Given the description of an element on the screen output the (x, y) to click on. 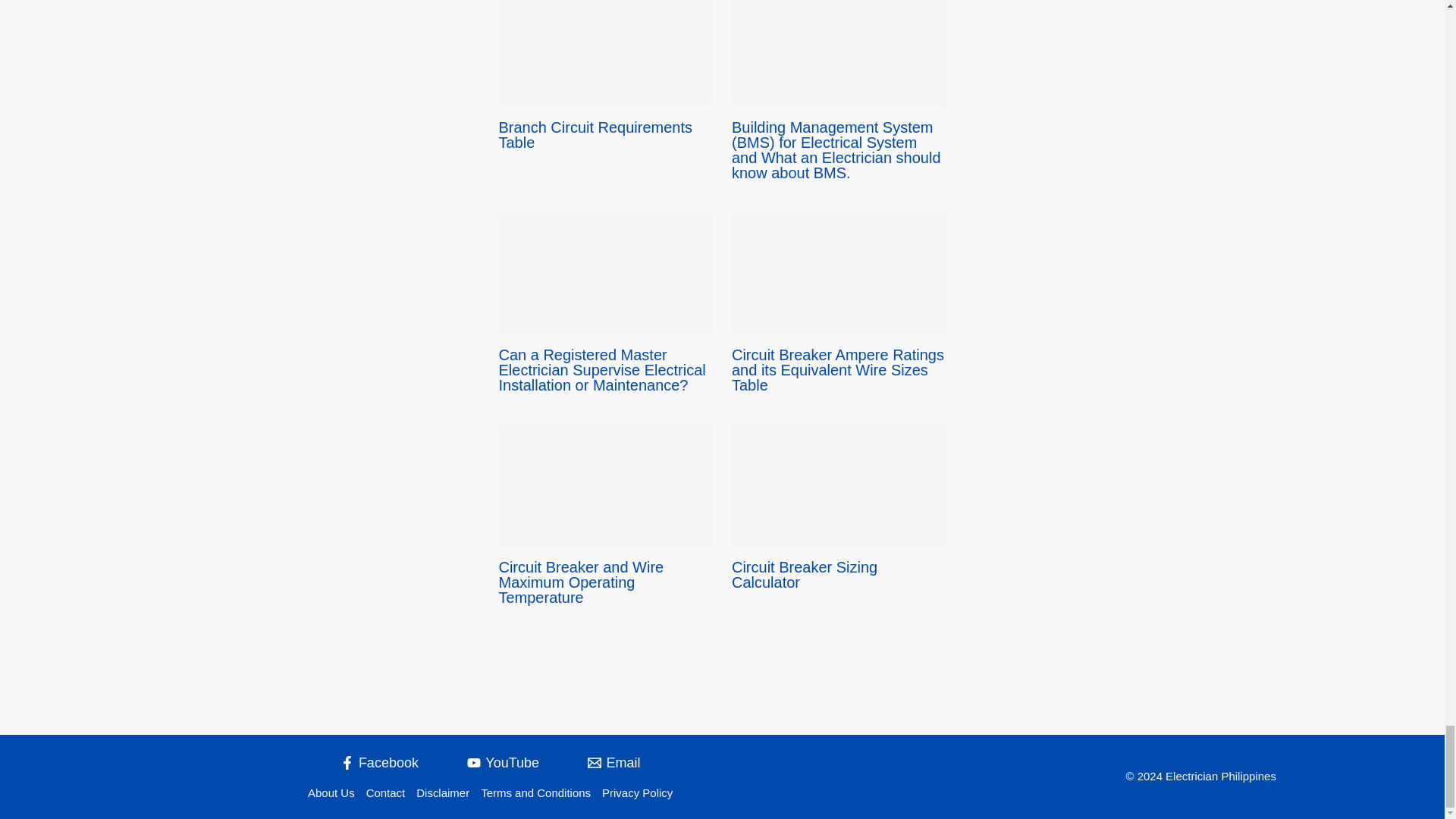
Circuit Breaker and Wire Maximum Operating Temperature (581, 582)
Branch Circuit Requirements Table (596, 134)
Circuit Breaker Sizing Calculator (804, 574)
